Given the description of an element on the screen output the (x, y) to click on. 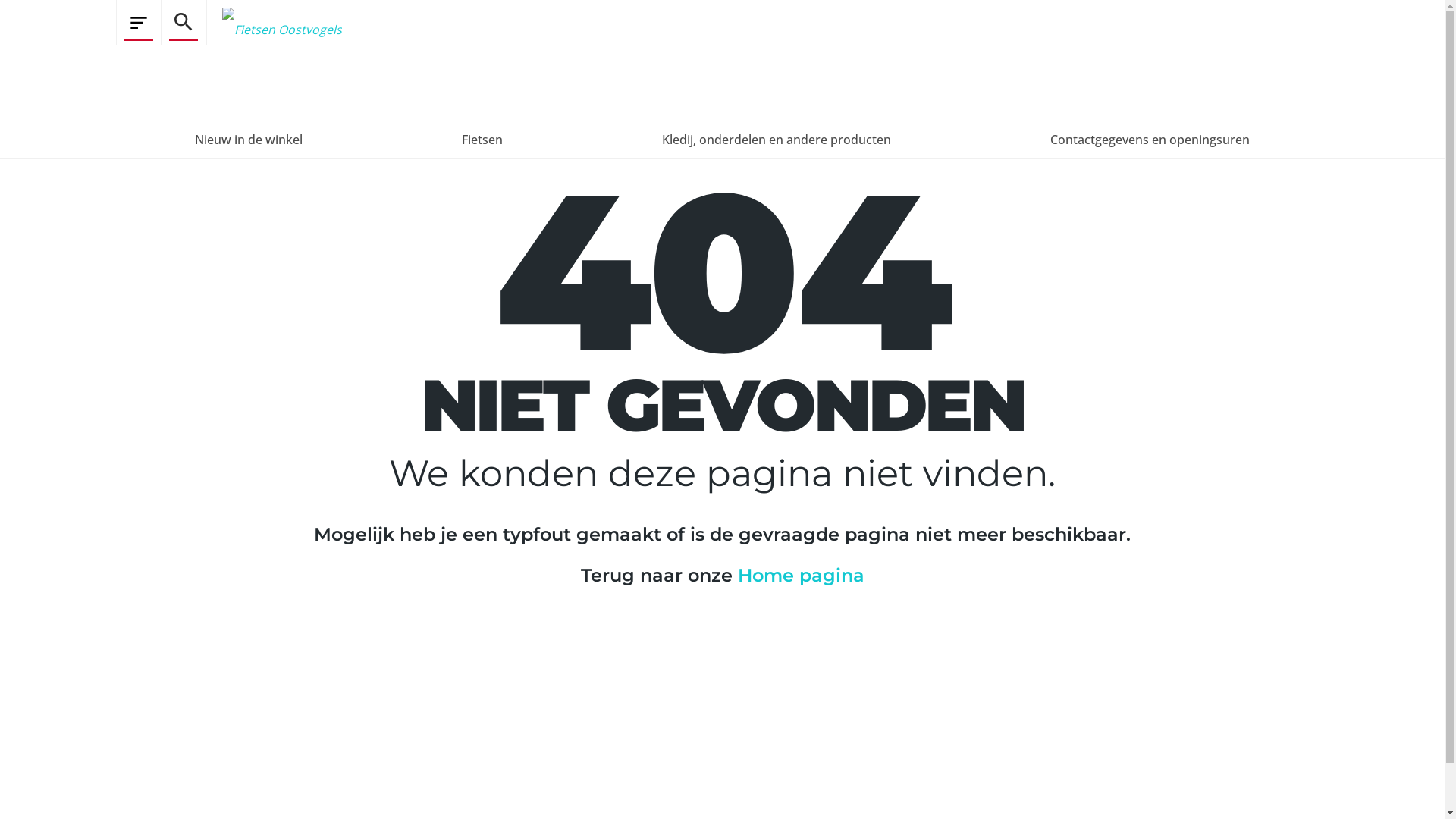
Contactgegevens en openingsuren Element type: text (1149, 140)
Fietsen Oostvogels Home pagina Element type: hover (273, 22)
Nieuw in de winkel Element type: text (248, 140)
Home pagina Element type: text (800, 575)
